Given the description of an element on the screen output the (x, y) to click on. 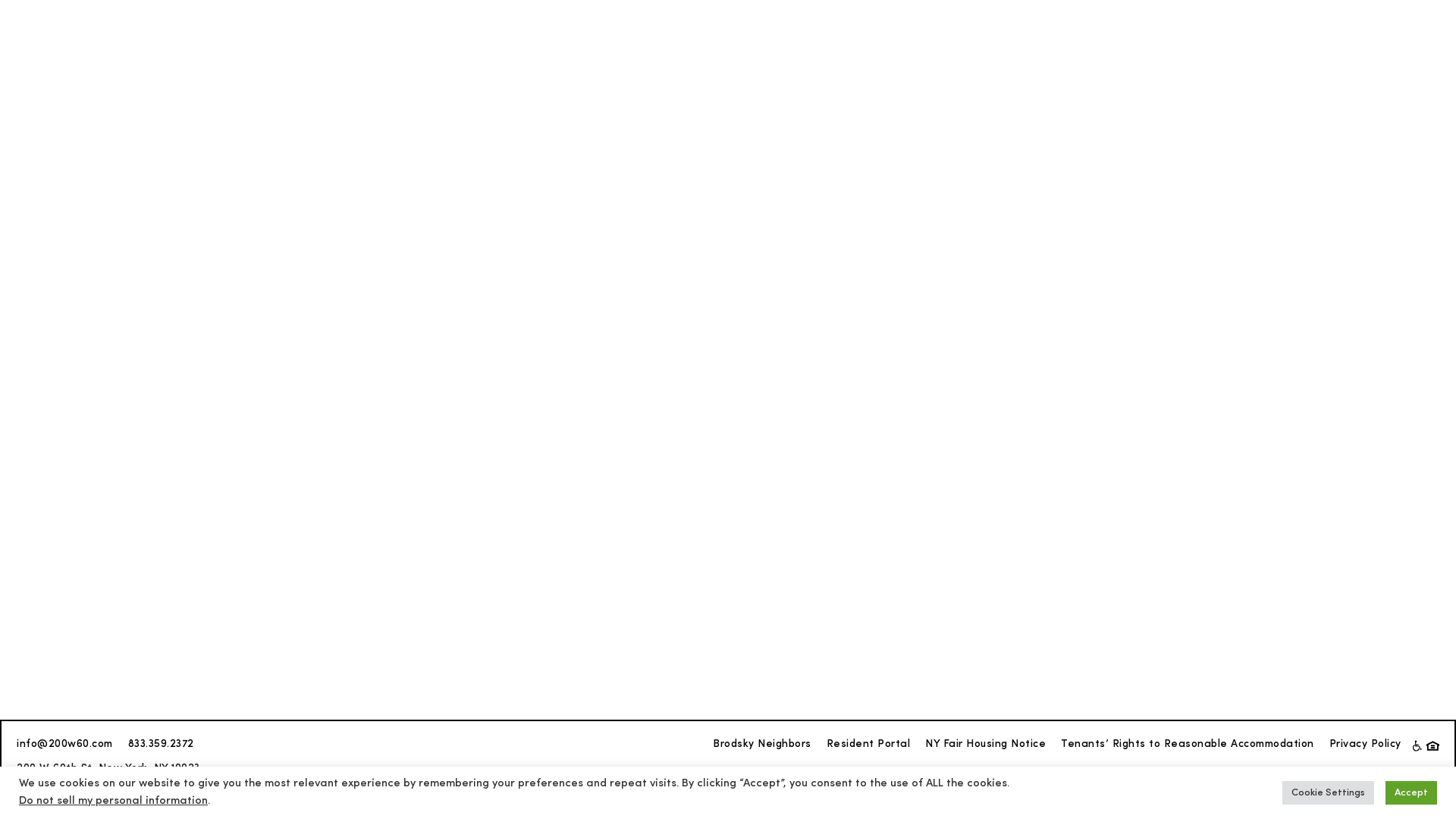
833.359.2372 Element type: text (160, 744)
200 W 60th St. New York, NY 10023 Element type: text (108, 768)
info@200w60.com Element type: text (64, 744)
Resident Portal Element type: text (868, 744)
Site by IF Studio Element type: text (59, 793)
Privacy Policy Element type: text (1365, 744)
NY Fair Housing Notice Element type: text (985, 744)
Cookie Settings Element type: text (1328, 792)
Do not sell my personal information Element type: text (112, 800)
Accept Element type: text (1411, 792)
Brodsky Neighbors Element type: text (761, 744)
